Given the description of an element on the screen output the (x, y) to click on. 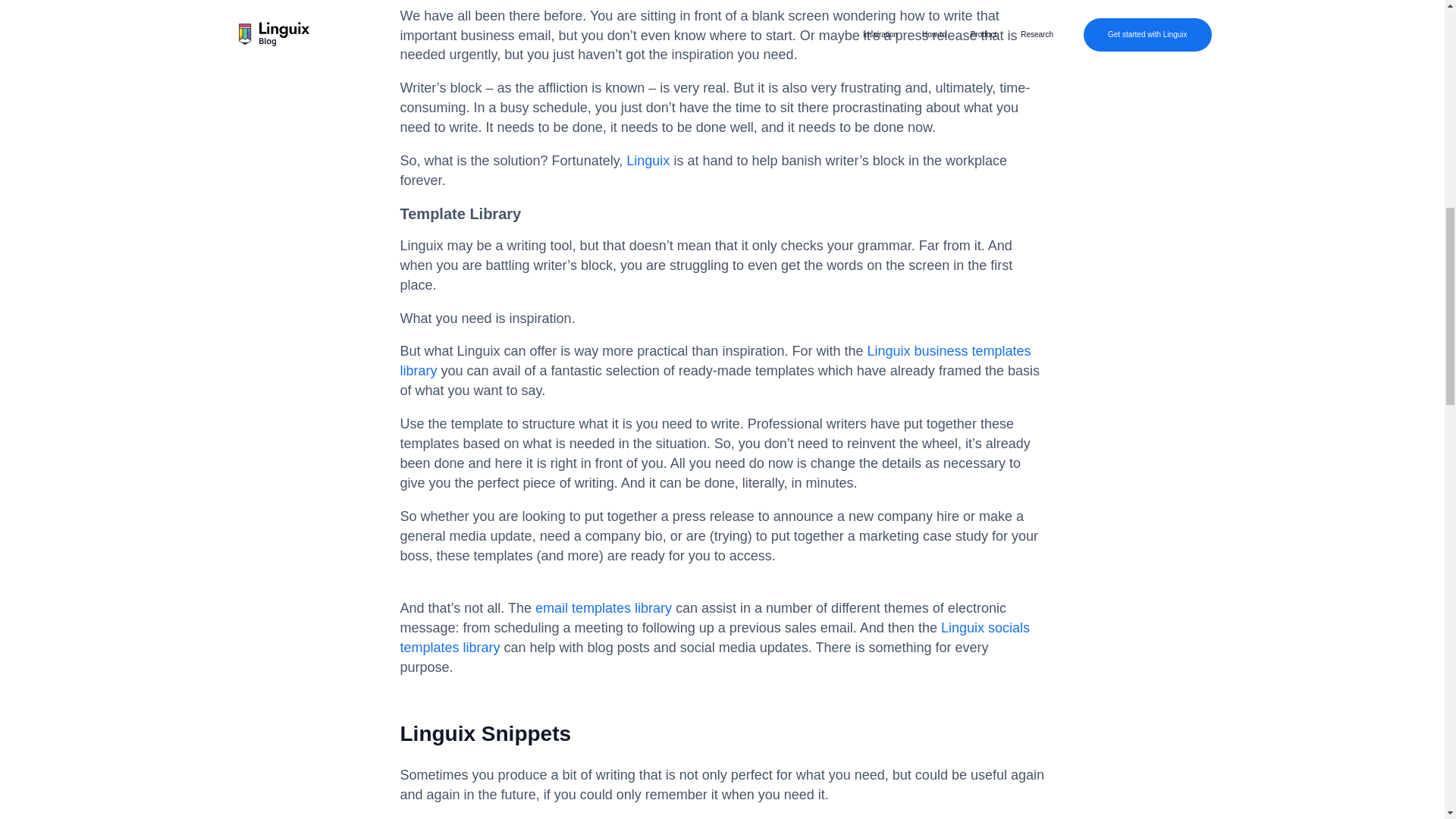
Linguix socials templates library (714, 637)
email templates library (603, 607)
Linguix business templates library (715, 360)
Linguix (647, 160)
